Given the description of an element on the screen output the (x, y) to click on. 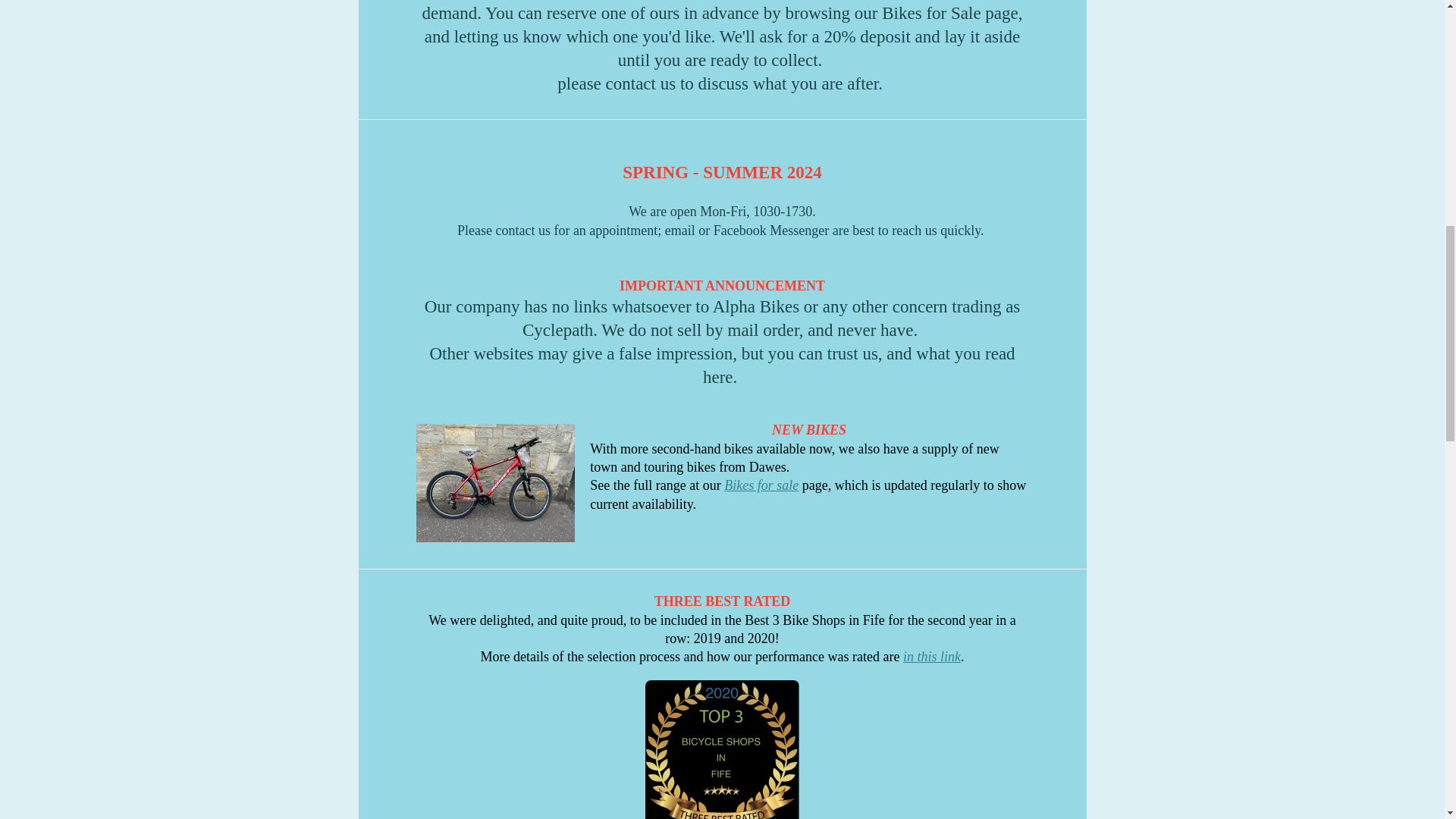
in this link (931, 656)
Bikes for sale (760, 485)
